Given the description of an element on the screen output the (x, y) to click on. 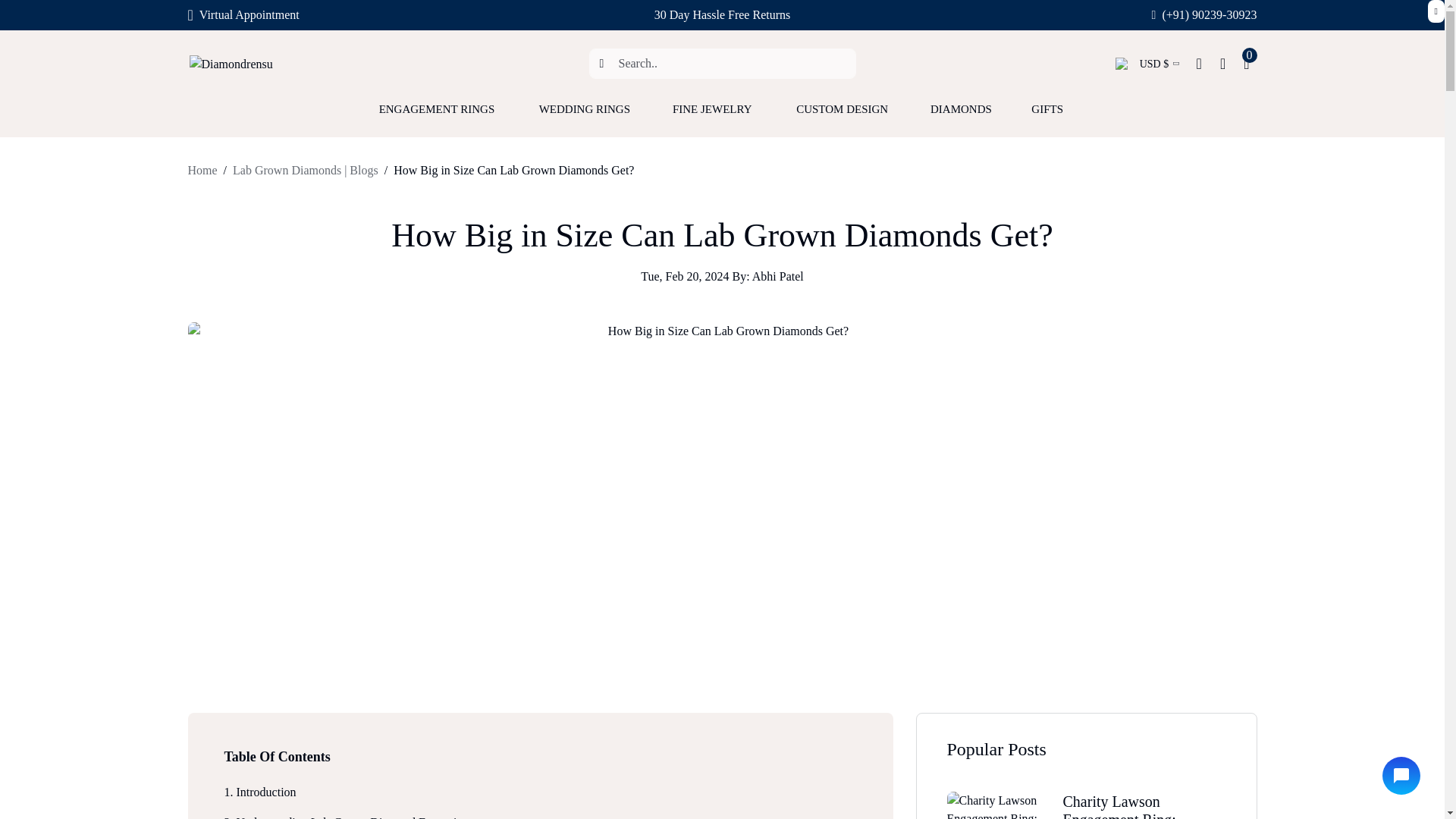
Search.. (722, 63)
ENGAGEMENT RINGS (439, 117)
Diamondrensu (321, 63)
Virtual Appointment (243, 14)
